Given the description of an element on the screen output the (x, y) to click on. 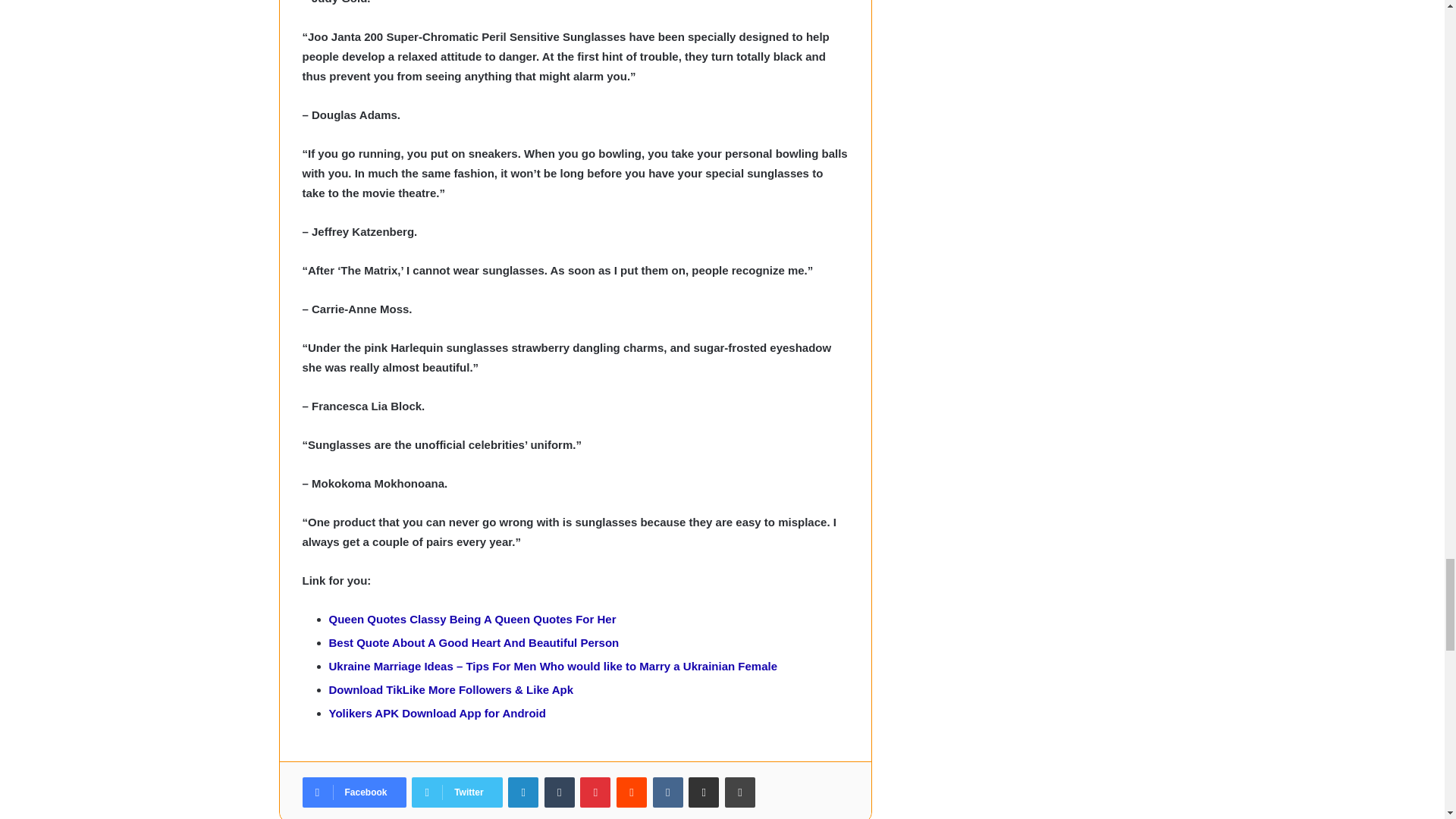
Reddit (630, 792)
LinkedIn (523, 792)
Best Quote About A Good Heart And Beautiful Person (474, 642)
Tumblr (559, 792)
Twitter (457, 792)
Print (740, 792)
Facebook (353, 792)
Pinterest (594, 792)
VKontakte (667, 792)
Share via Email (703, 792)
Pinterest (594, 792)
Queen Quotes Classy Being A Queen Quotes For Her (472, 618)
Reddit (630, 792)
Twitter (457, 792)
Tumblr (559, 792)
